Given the description of an element on the screen output the (x, y) to click on. 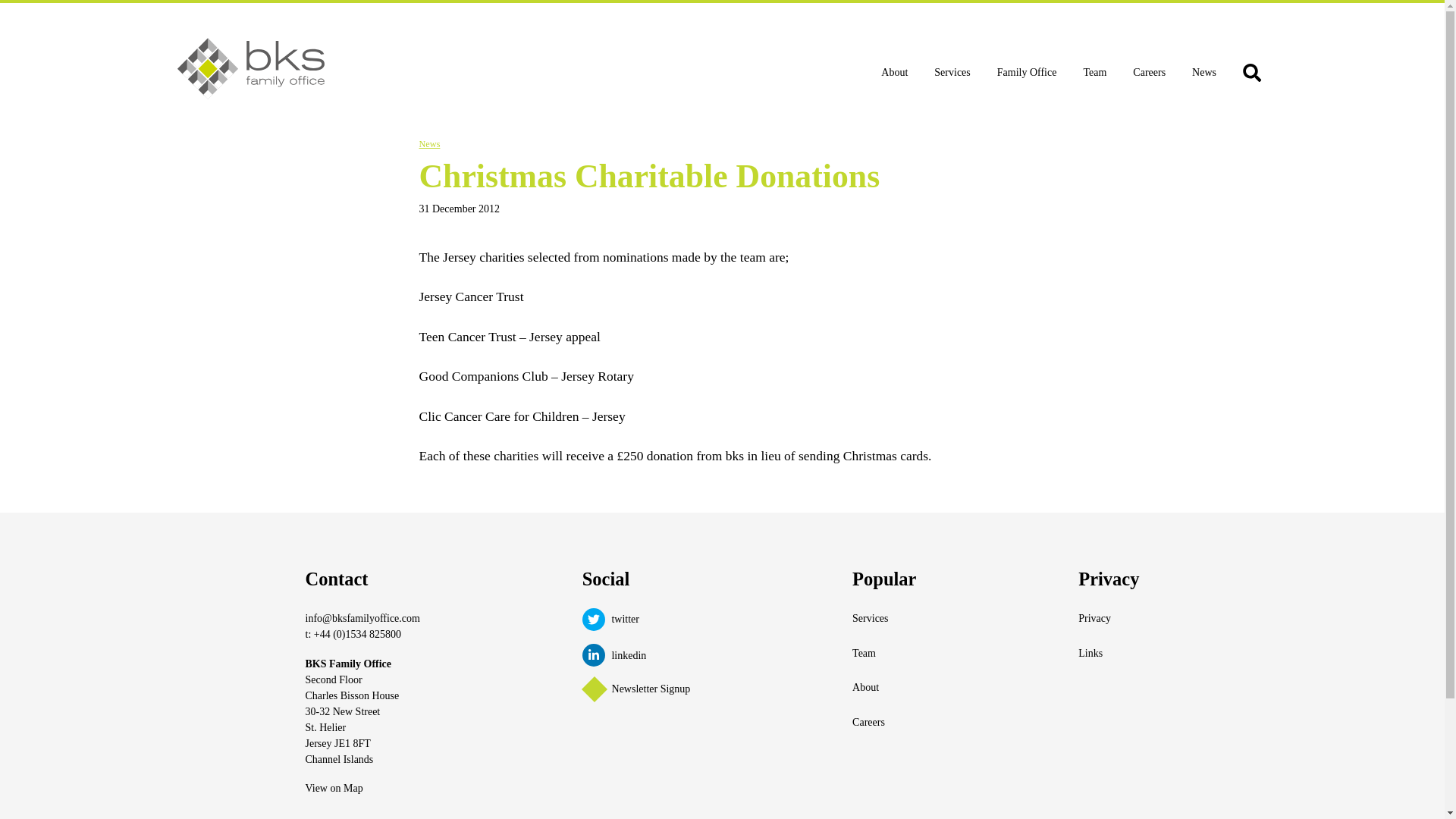
Team (1094, 71)
News (429, 143)
About (883, 687)
About (894, 71)
Privacy (1108, 618)
Team (883, 652)
Services (952, 71)
linkedin (636, 655)
Links (1108, 652)
View on Map (333, 787)
